Given the description of an element on the screen output the (x, y) to click on. 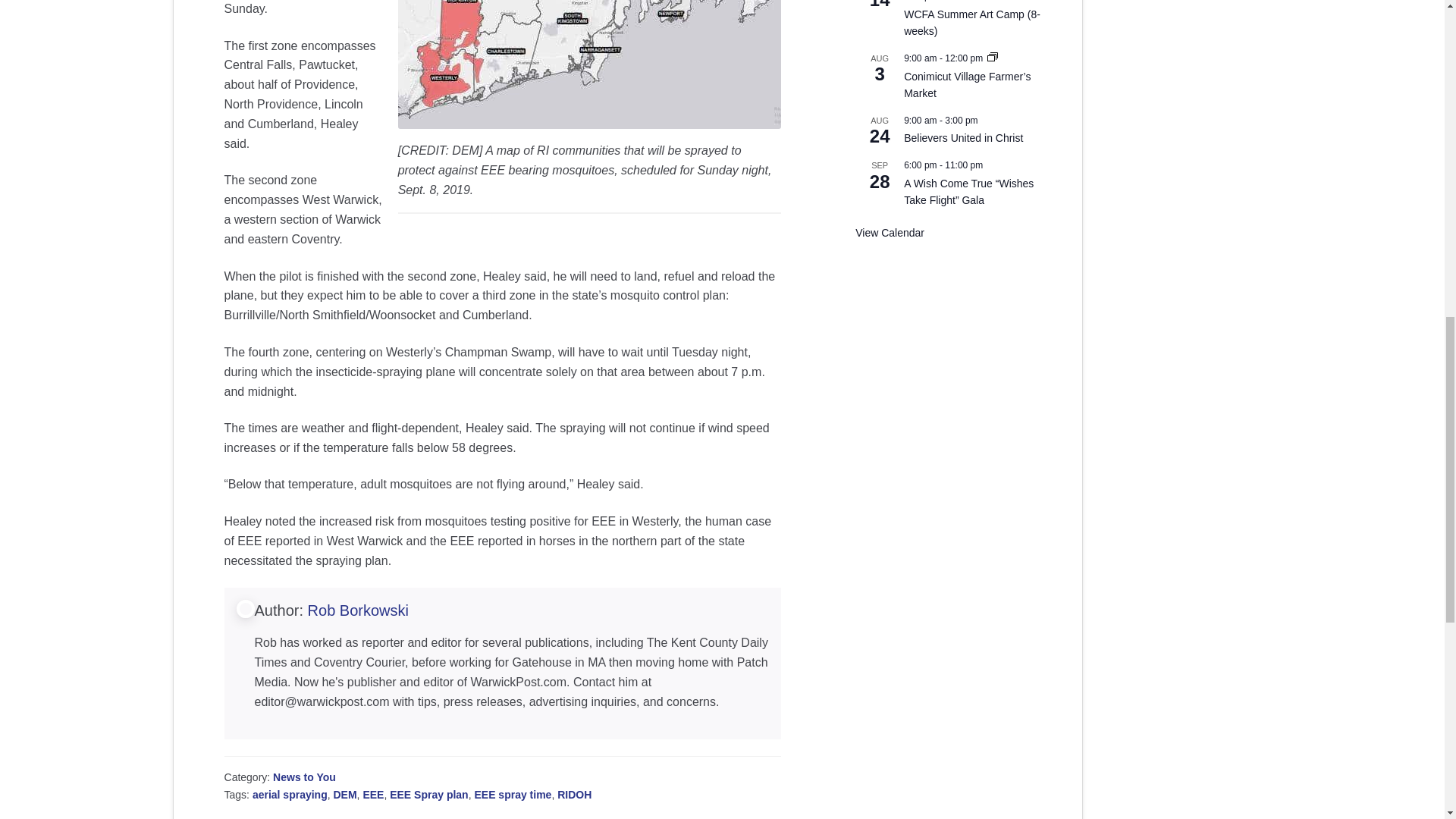
View more events. (890, 232)
Event Series (992, 58)
Believers United in Christ (963, 137)
